Given the description of an element on the screen output the (x, y) to click on. 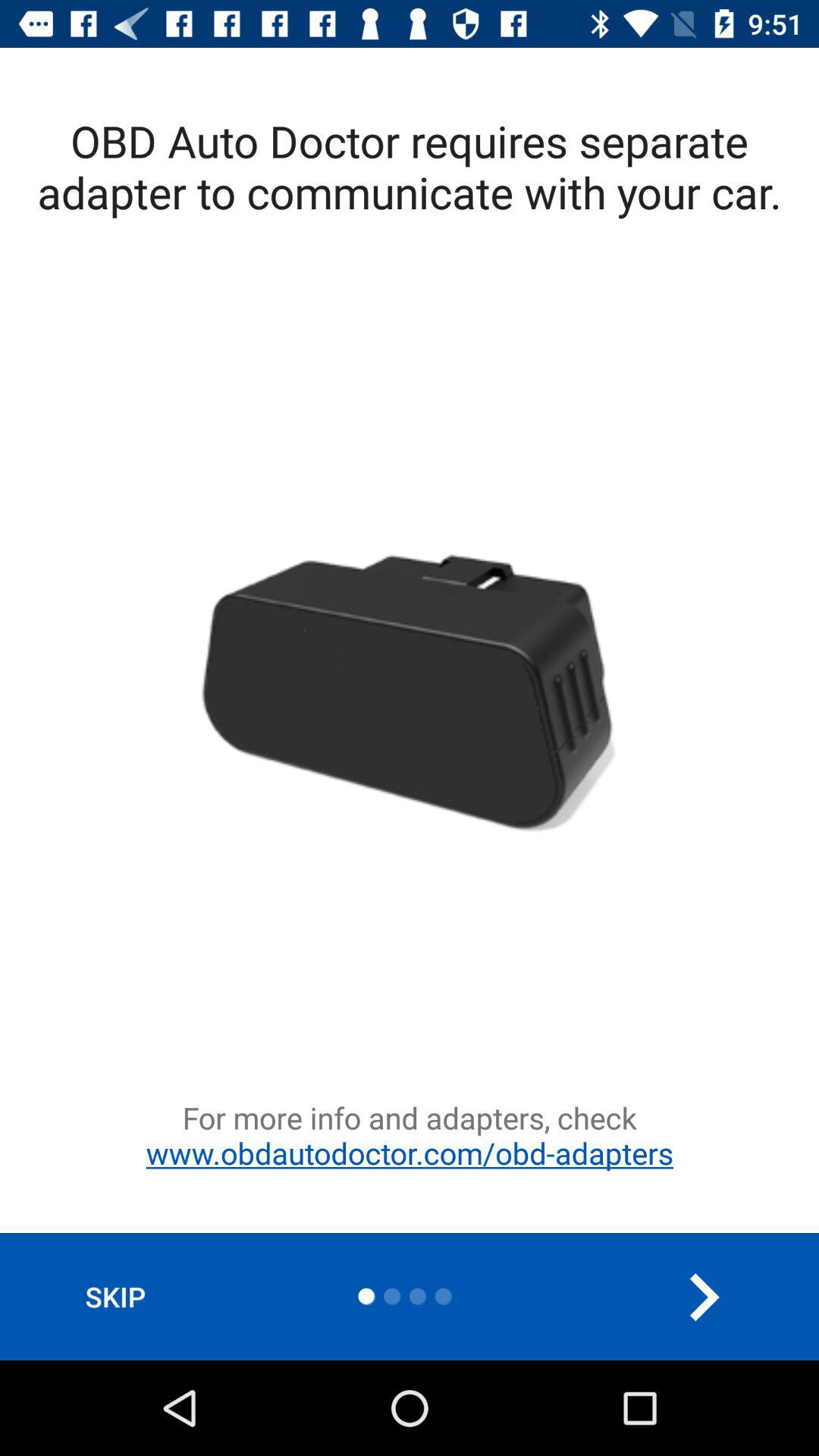
jump until skip icon (114, 1296)
